Given the description of an element on the screen output the (x, y) to click on. 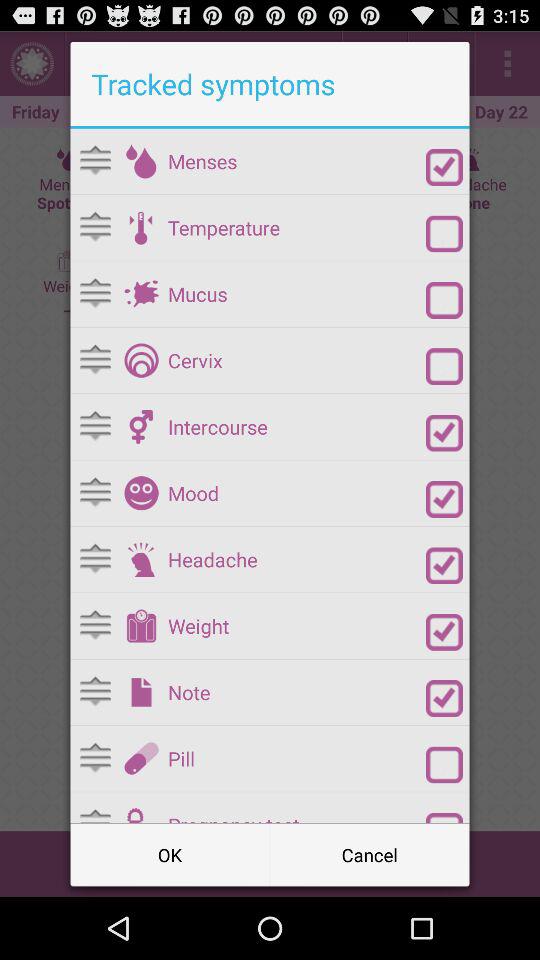
toggle mood (444, 499)
